Given the description of an element on the screen output the (x, y) to click on. 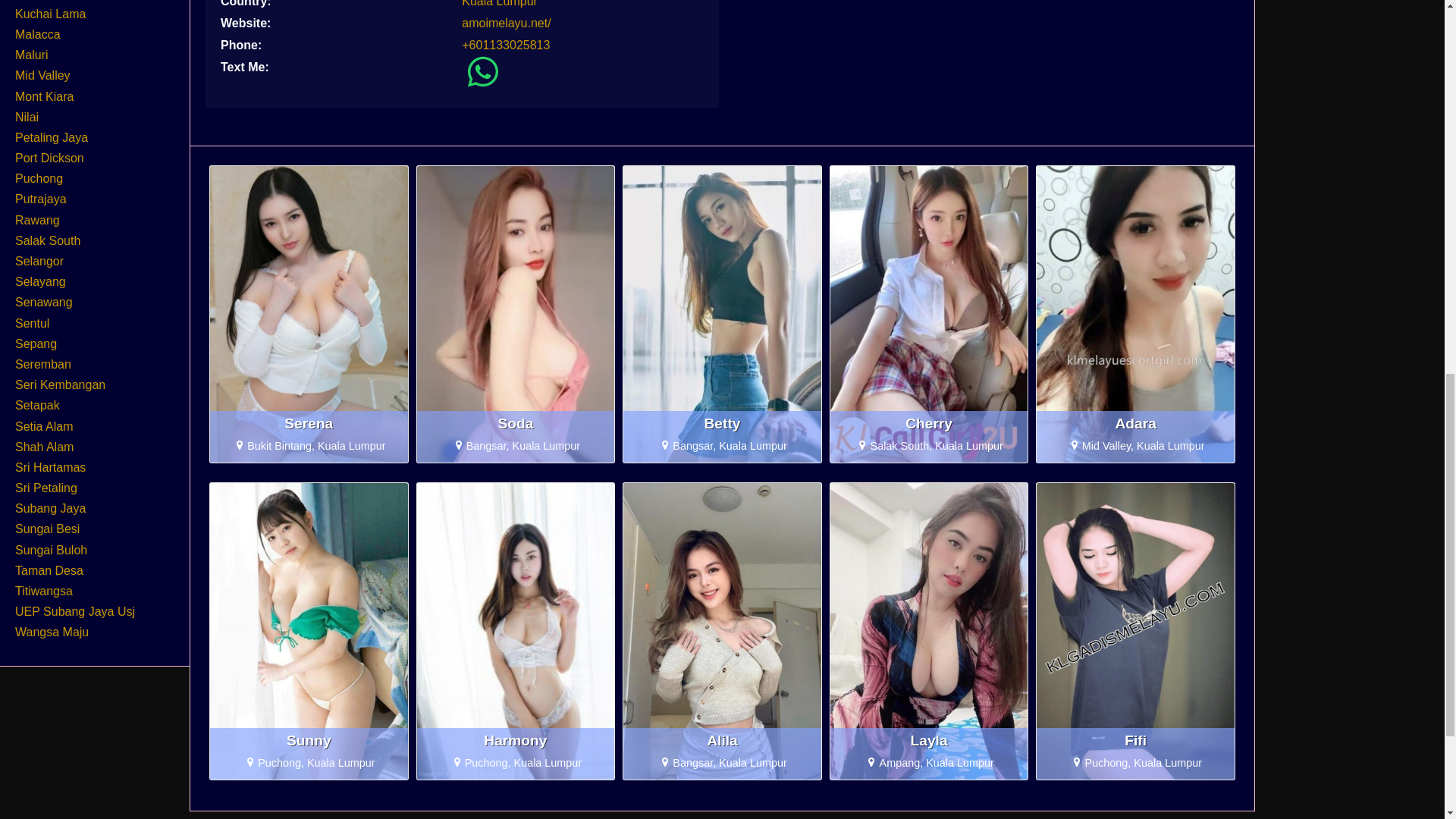
Serena (309, 423)
Cherry (929, 423)
Betty (721, 423)
Adara (1135, 423)
Kuala Lumpur (499, 3)
Soda (515, 423)
Kuala Lumpur (499, 3)
